Given the description of an element on the screen output the (x, y) to click on. 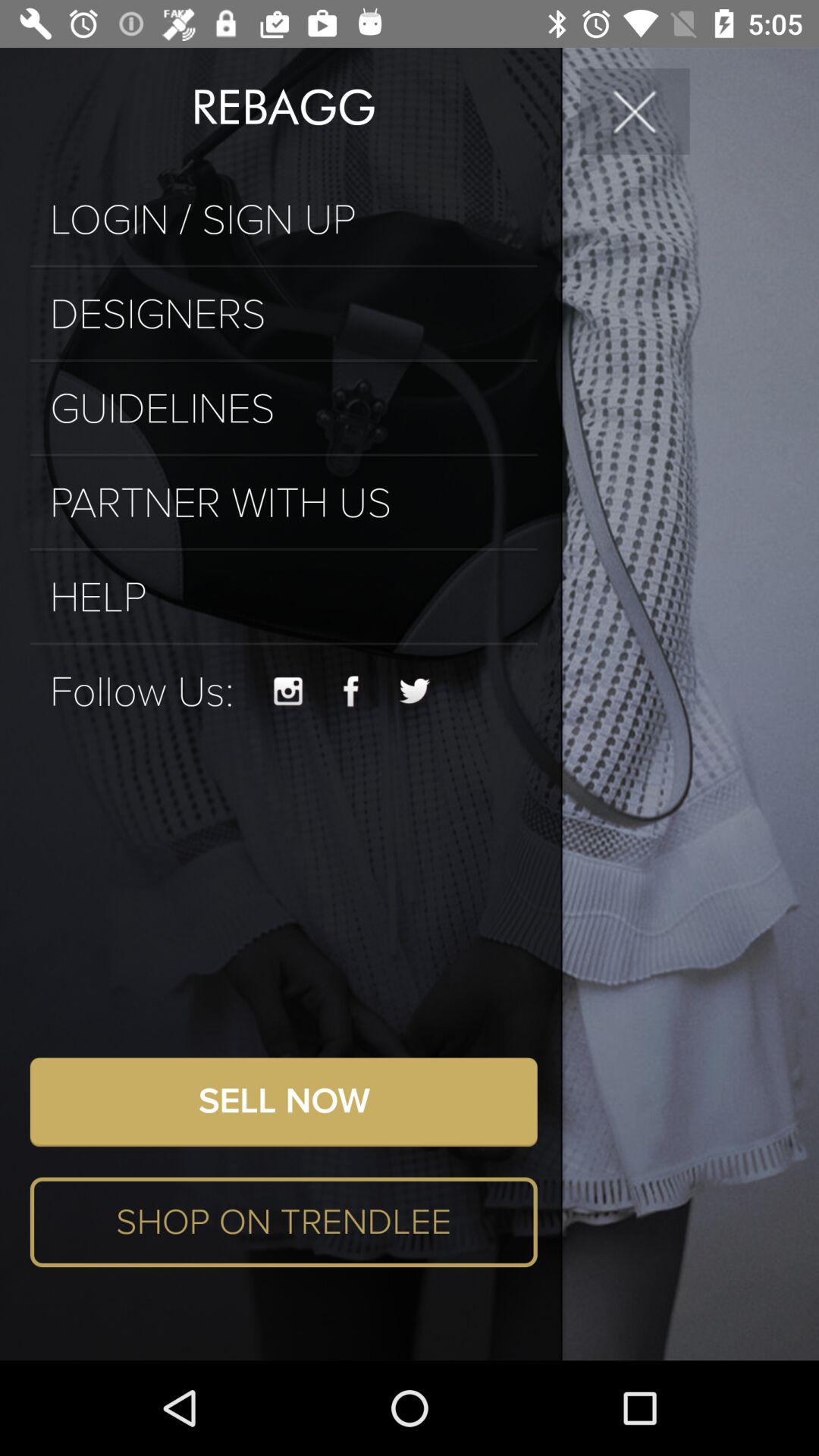
this is twitter icon (415, 691)
